Given the description of an element on the screen output the (x, y) to click on. 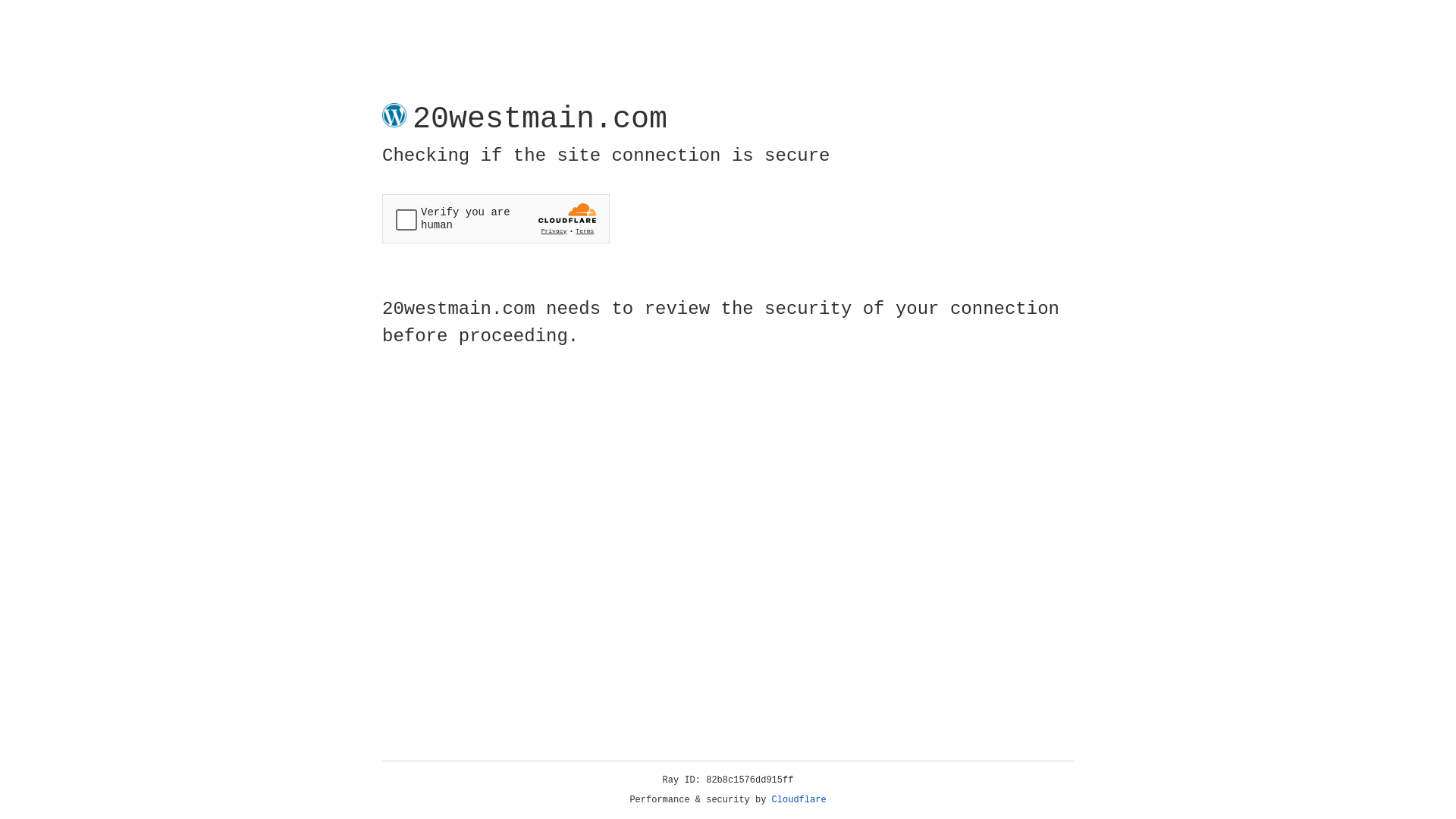
Cloudflare Element type: text (798, 799)
Widget containing a Cloudflare security challenge Element type: hover (495, 218)
